Given the description of an element on the screen output the (x, y) to click on. 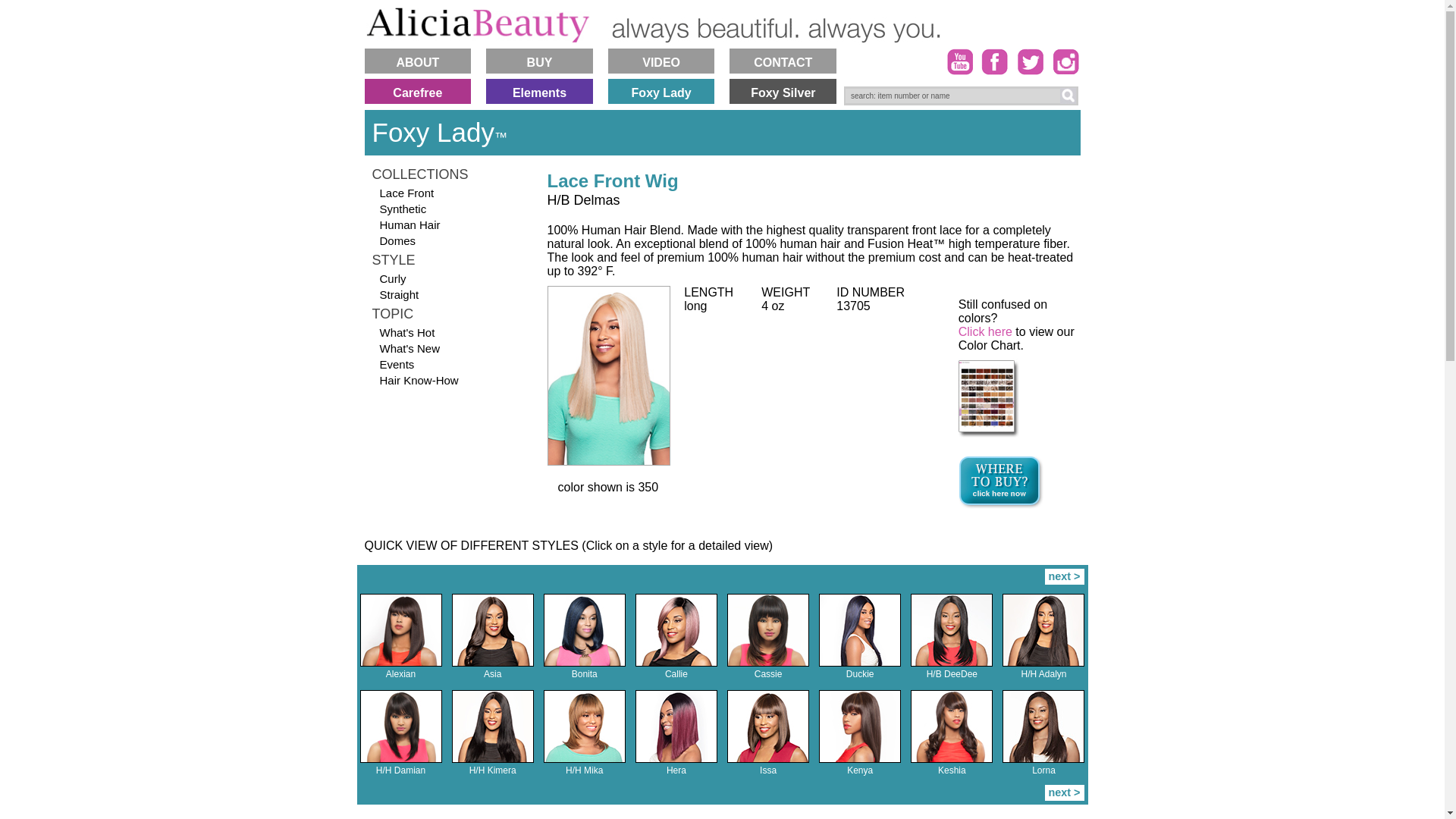
Straight (447, 294)
Elements (539, 91)
Callie (675, 629)
Bonita (584, 674)
COLLECTIONS (447, 173)
Kenya (859, 726)
WHERE TO BUY? click here now (1000, 481)
Click here (984, 331)
What's Hot (447, 332)
Asia (492, 629)
 search: item number or name (955, 95)
ABOUT (417, 60)
Cassie (767, 629)
Lace Front (447, 192)
Foxy Lady (661, 91)
